Given the description of an element on the screen output the (x, y) to click on. 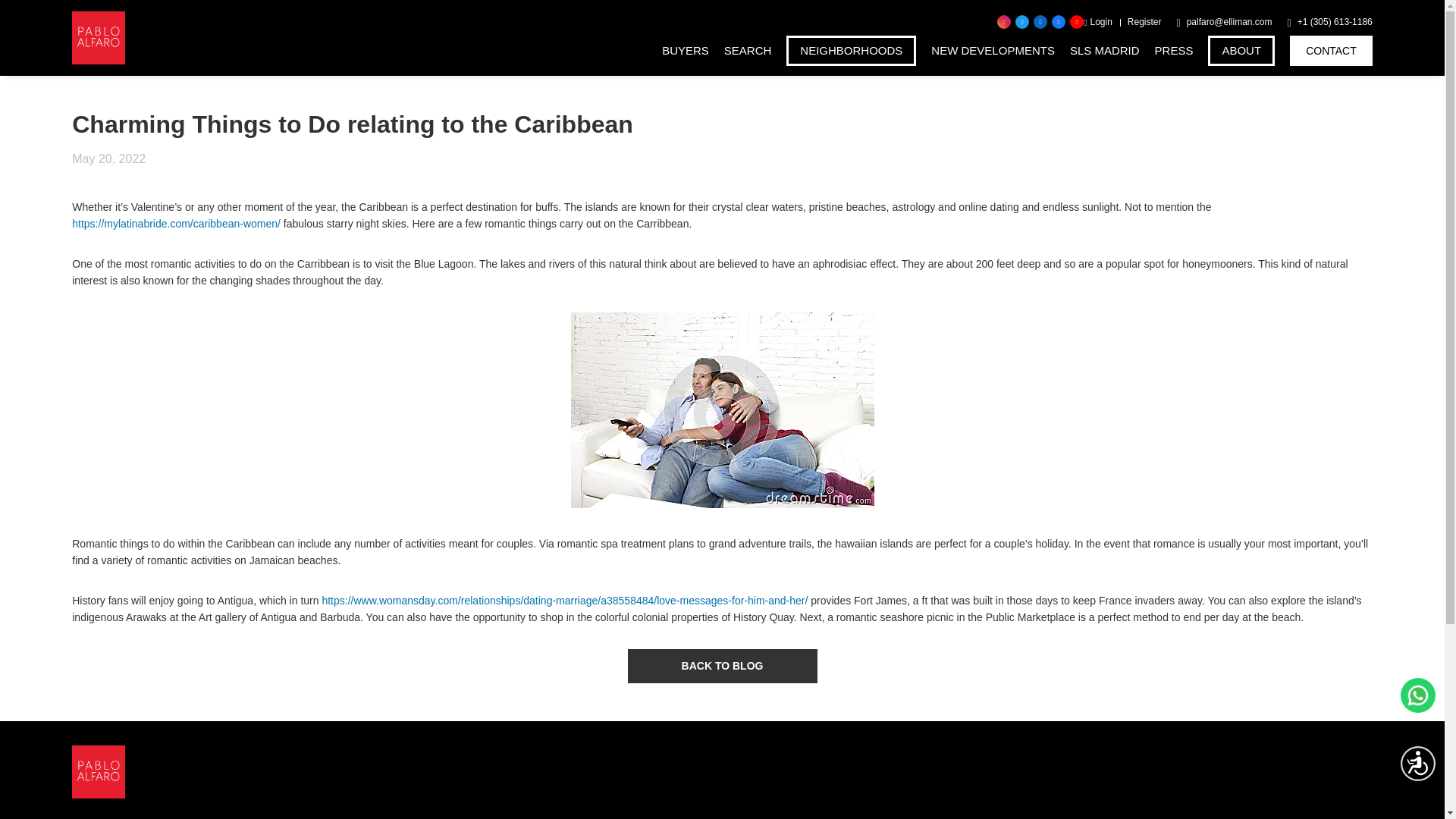
NEIGHBORHOODS (850, 51)
Youtube (1076, 21)
Facebook (1058, 21)
CONTACT (1331, 51)
Linked In (1039, 21)
PRESS (1173, 51)
ABOUT (1241, 51)
Twitter (1021, 21)
SEARCH (747, 51)
Register (1143, 21)
SLS MADRID (1105, 51)
BUYERS (685, 51)
Instagram (1003, 21)
NEW DEVELOPMENTS (992, 51)
Home (98, 37)
